Given the description of an element on the screen output the (x, y) to click on. 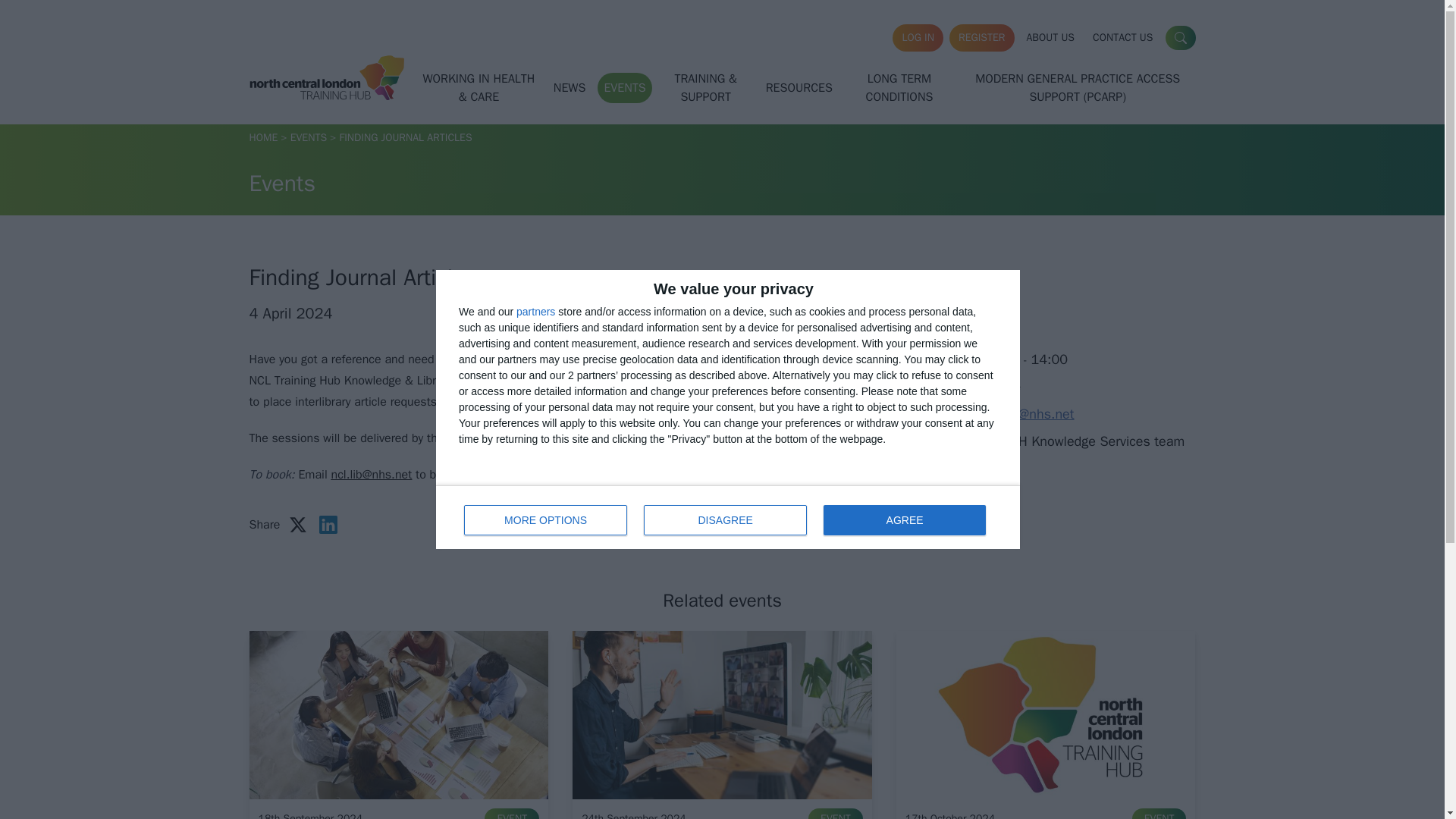
AGREE (904, 520)
REGISTER (981, 37)
FINDING JOURNAL ARTICLES (405, 137)
ABOUT US (1050, 37)
RESOURCES (799, 87)
SEARCH (727, 516)
CONTACT US (1179, 37)
partners (1122, 37)
Knowledge and Library Hub (535, 311)
